Given the description of an element on the screen output the (x, y) to click on. 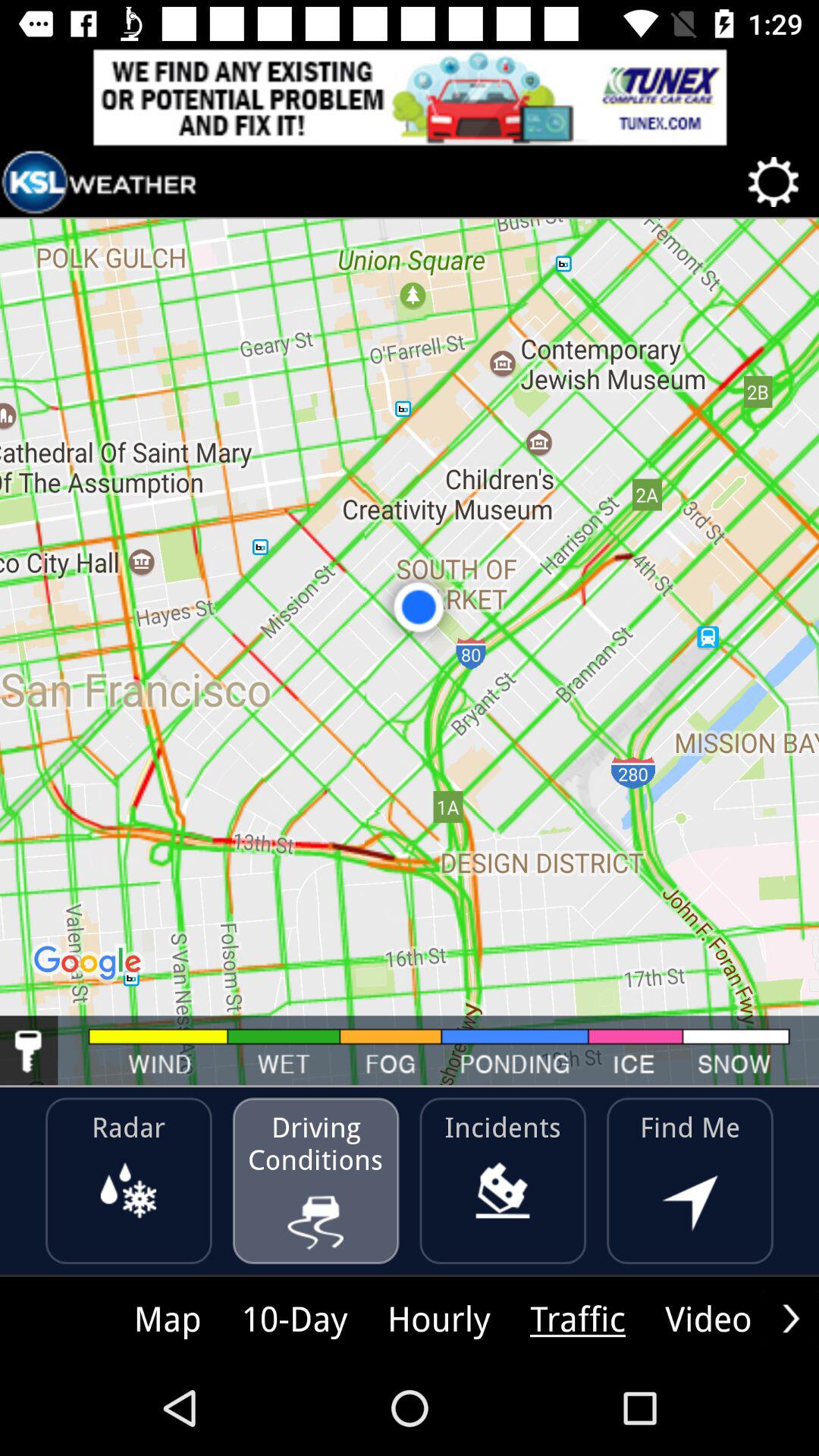
open advertisement (409, 97)
